Given the description of an element on the screen output the (x, y) to click on. 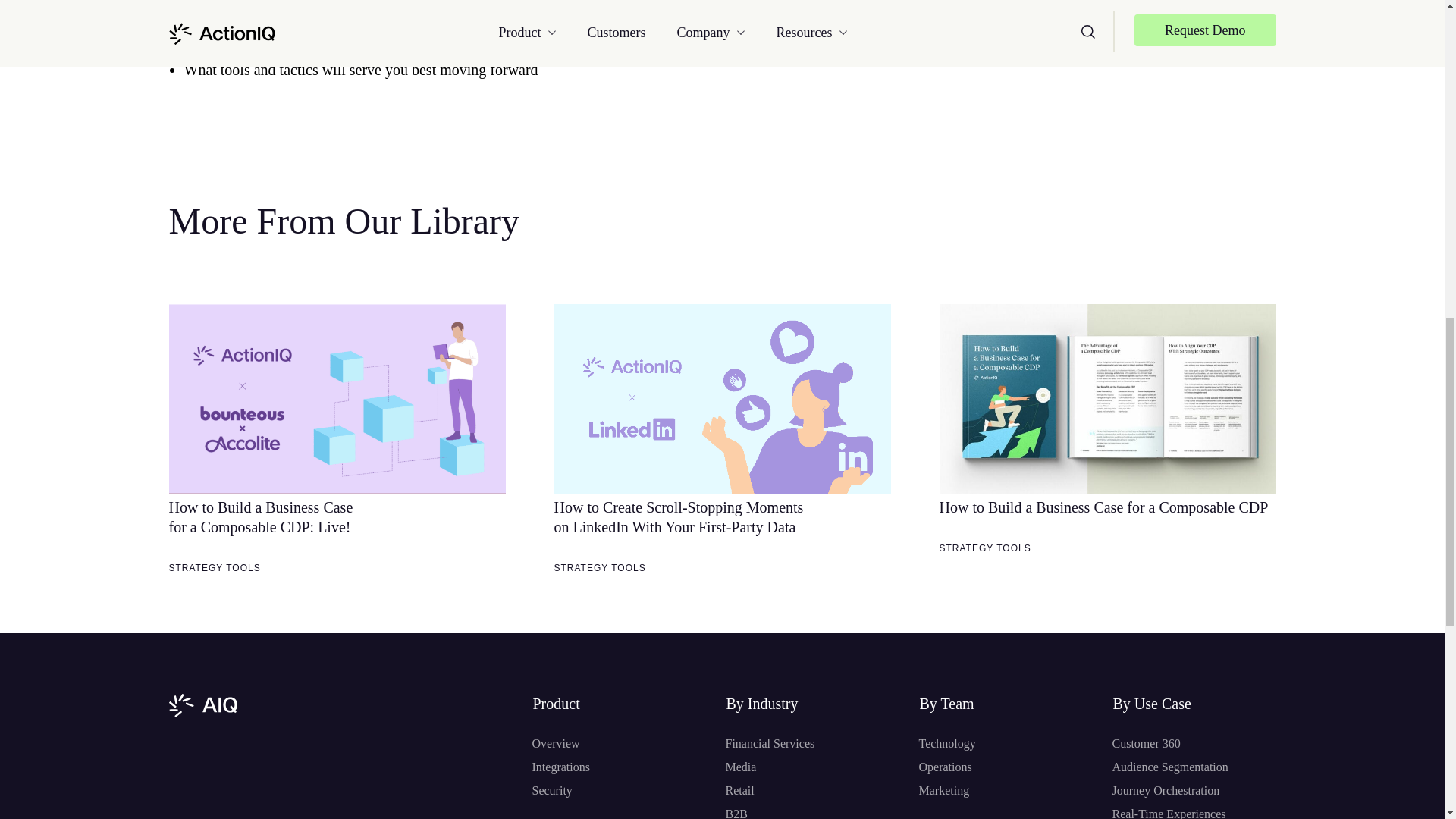
How to Build a Business Case for a Composable CDP: Live! (336, 398)
How to Build a Business Case for a Composable CDP (1107, 398)
How to Build a Business Case for a Composable CDP: Live! (260, 516)
How to Build a Business Case for a Composable CDP (1103, 506)
